Given the description of an element on the screen output the (x, y) to click on. 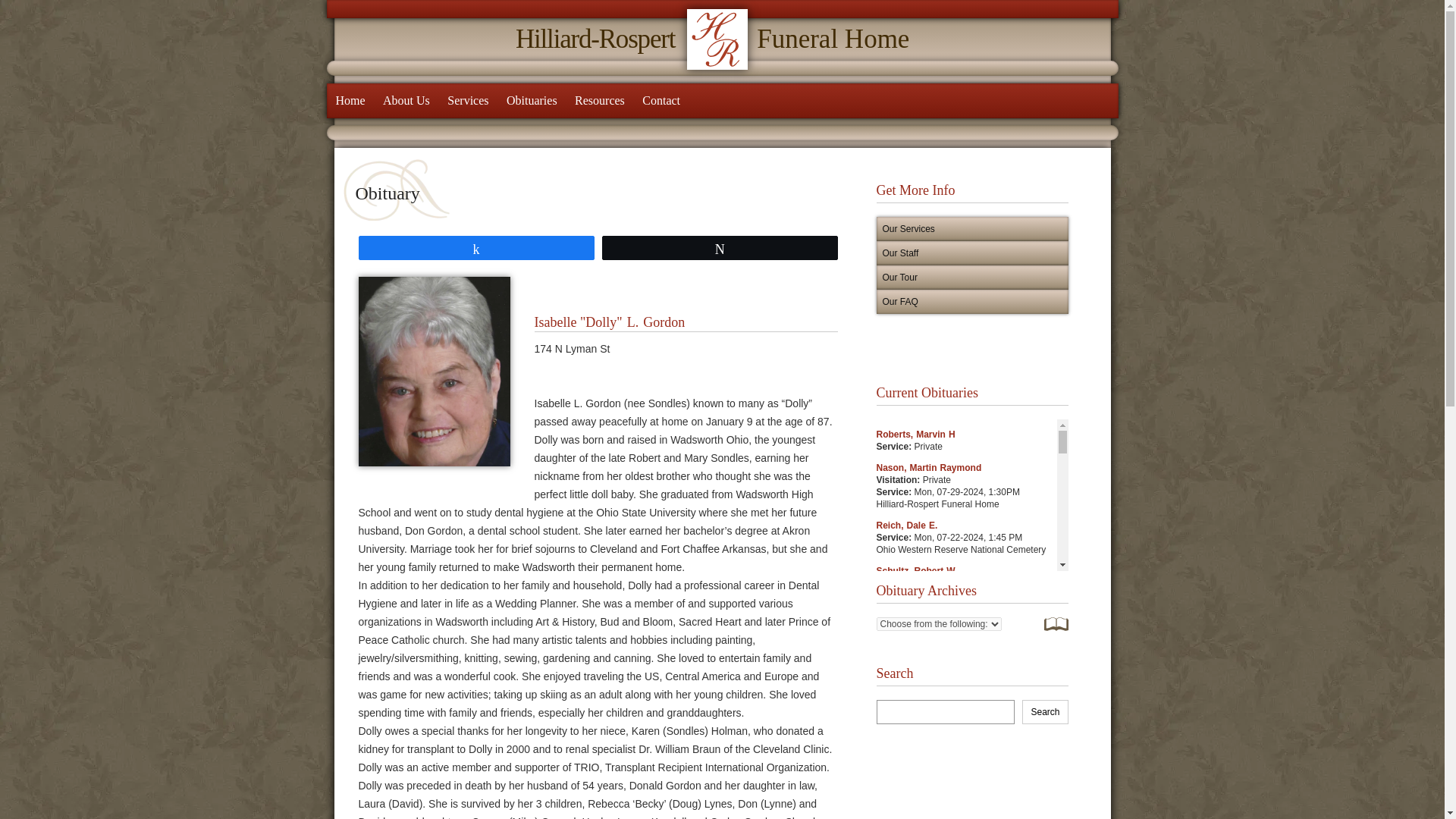
Our FAQ (972, 301)
Our Services (972, 228)
Our Staff (972, 252)
Our Tour (972, 277)
